Given the description of an element on the screen output the (x, y) to click on. 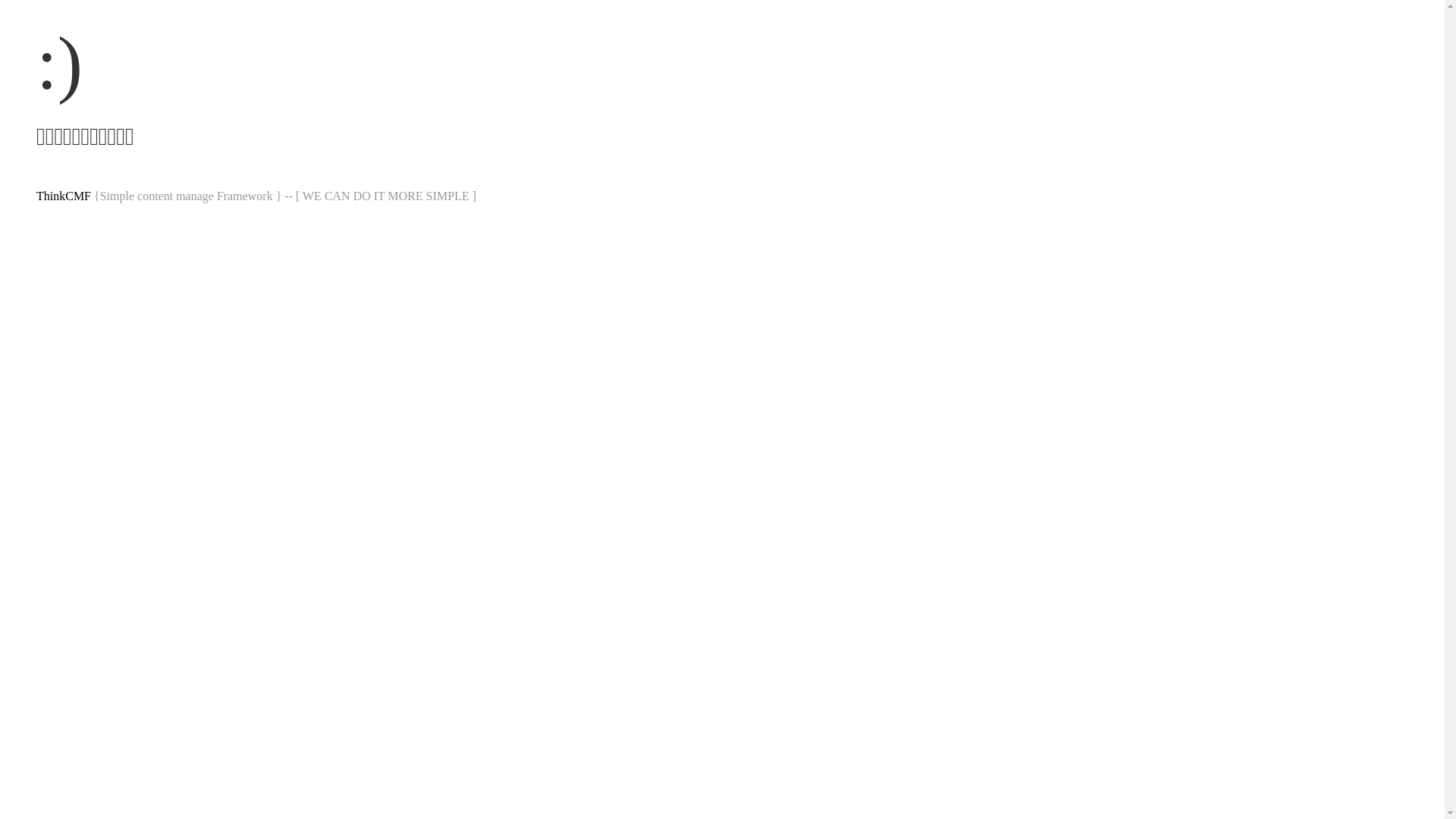
ThinkCMF Element type: text (63, 195)
